Given the description of an element on the screen output the (x, y) to click on. 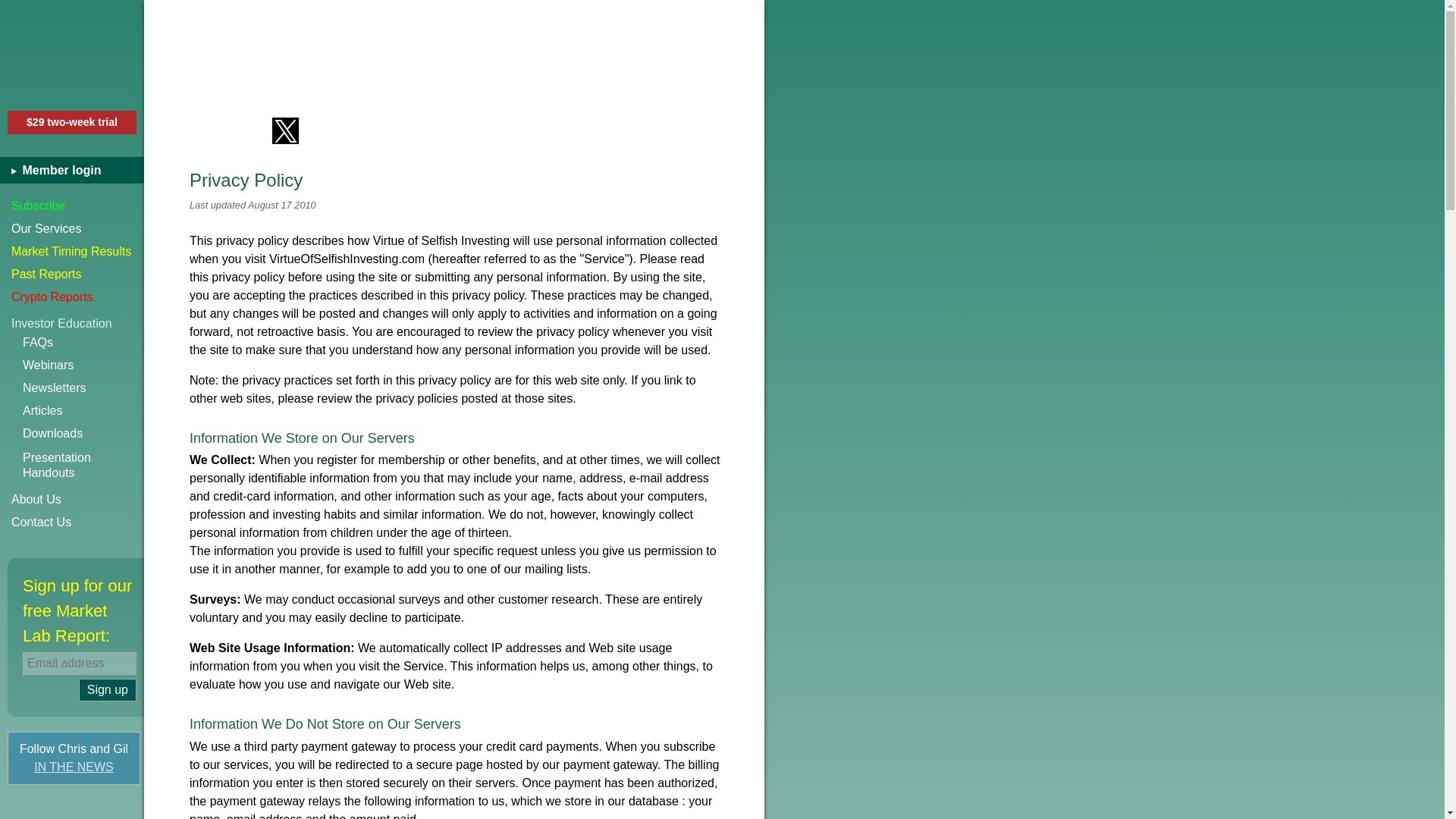
Webinars (83, 364)
Past Reports (72, 273)
Subscribe (72, 205)
Sign up (107, 689)
Market Timing Results (72, 251)
Our Services (72, 228)
Newsletters (83, 387)
Crypto Reports (72, 296)
About Us (72, 499)
FAQs (83, 342)
Sign up (107, 689)
Facebook (202, 130)
Downloads (83, 433)
Member login (77, 170)
IN THE NEWS (74, 767)
